Given the description of an element on the screen output the (x, y) to click on. 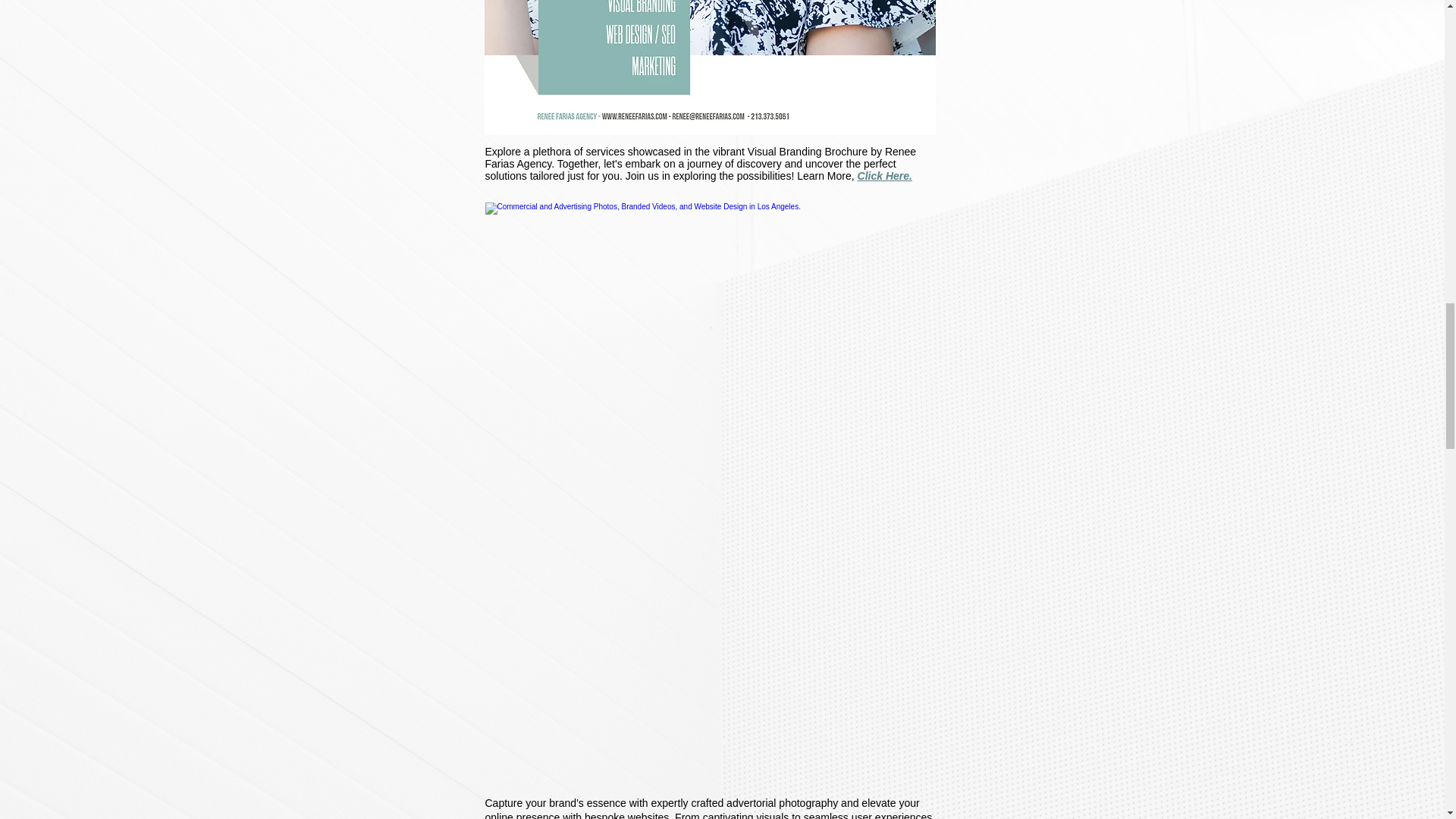
Click Here. (884, 175)
